Given the description of an element on the screen output the (x, y) to click on. 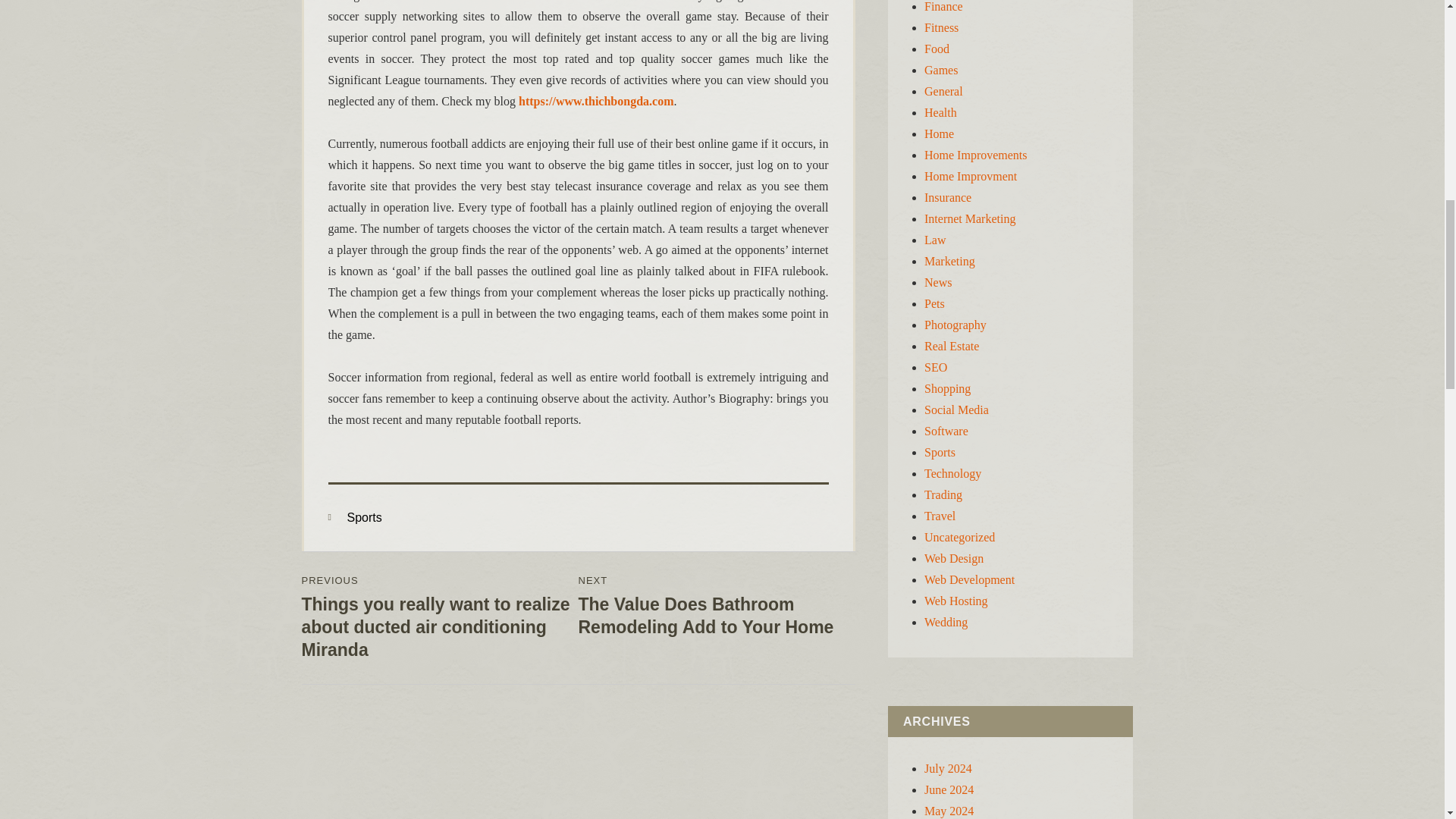
Internet Marketing (969, 218)
Food (936, 48)
Health (940, 112)
Home Improvment (970, 175)
Insurance (947, 196)
Finance (943, 6)
Law (934, 239)
Games (941, 69)
General (943, 91)
Fitness (941, 27)
Home (938, 133)
Home Improvements (975, 154)
Sports (364, 517)
